Given the description of an element on the screen output the (x, y) to click on. 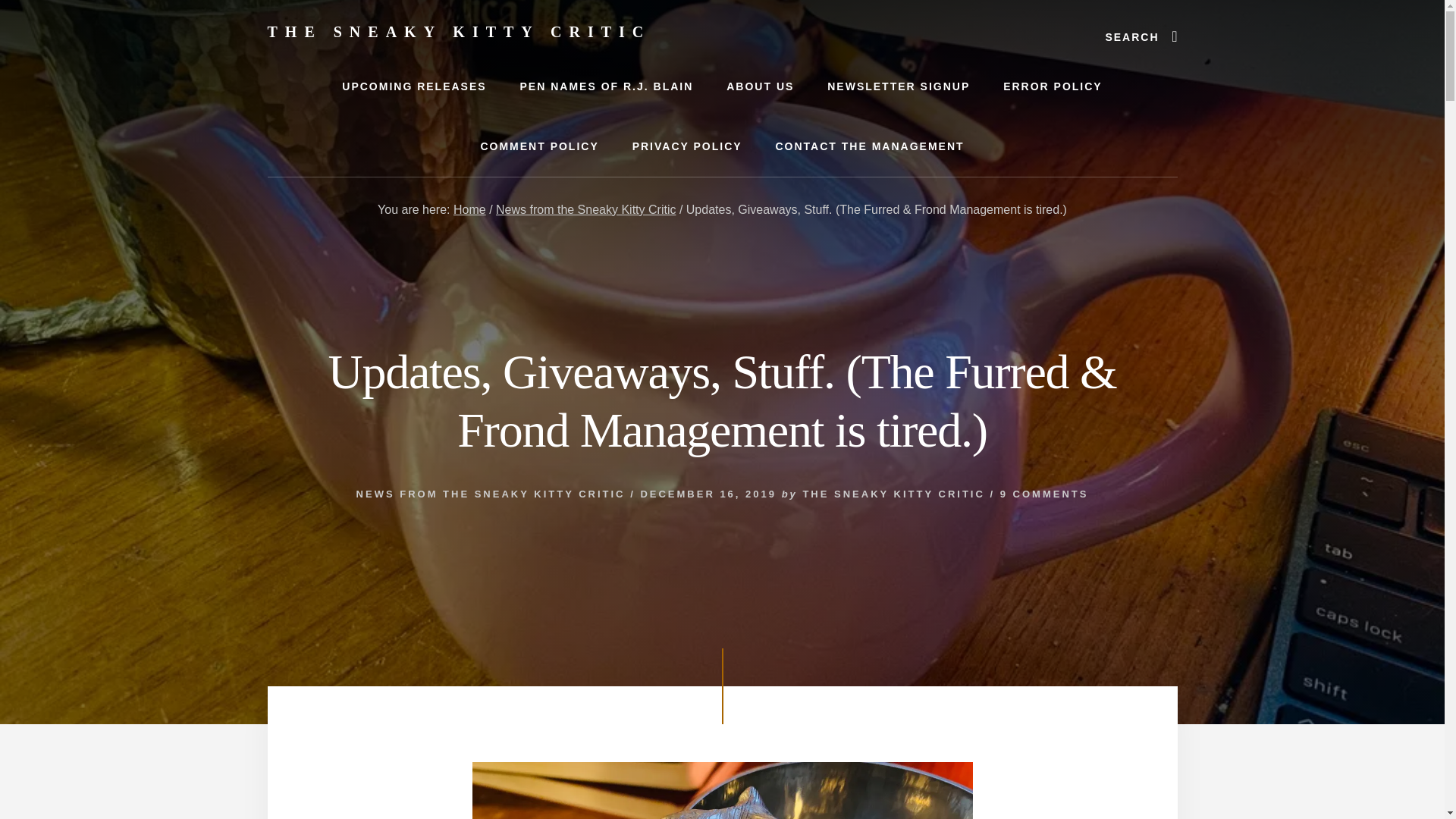
UPCOMING RELEASES (413, 86)
NEWSLETTER SIGNUP (898, 86)
PRIVACY POLICY (687, 146)
9 COMMENTS (1044, 493)
ERROR POLICY (1053, 86)
Home (469, 209)
COMMENT POLICY (538, 146)
